Given the description of an element on the screen output the (x, y) to click on. 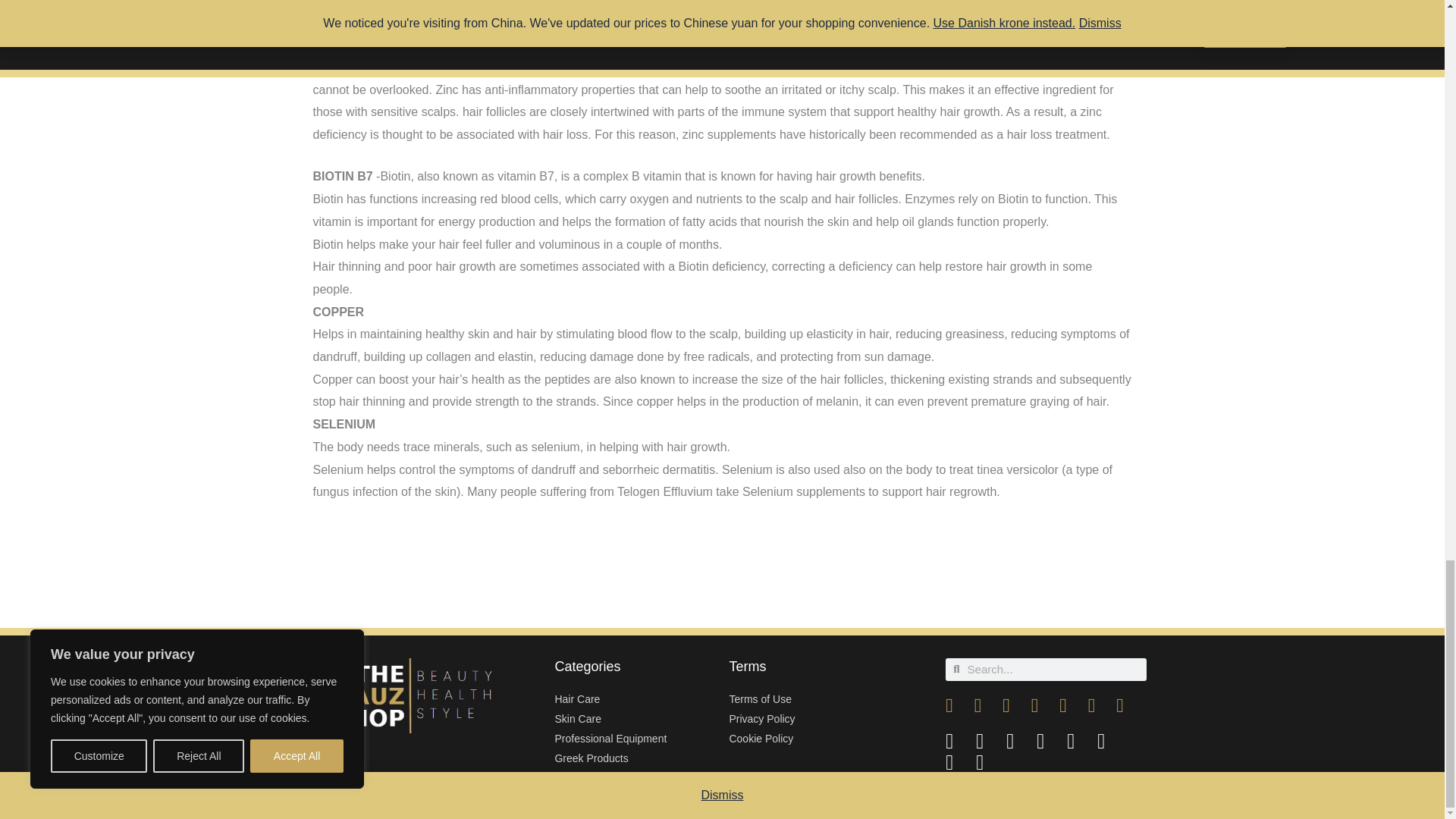
theauzshop-logo-slogan2 (414, 695)
